Given the description of an element on the screen output the (x, y) to click on. 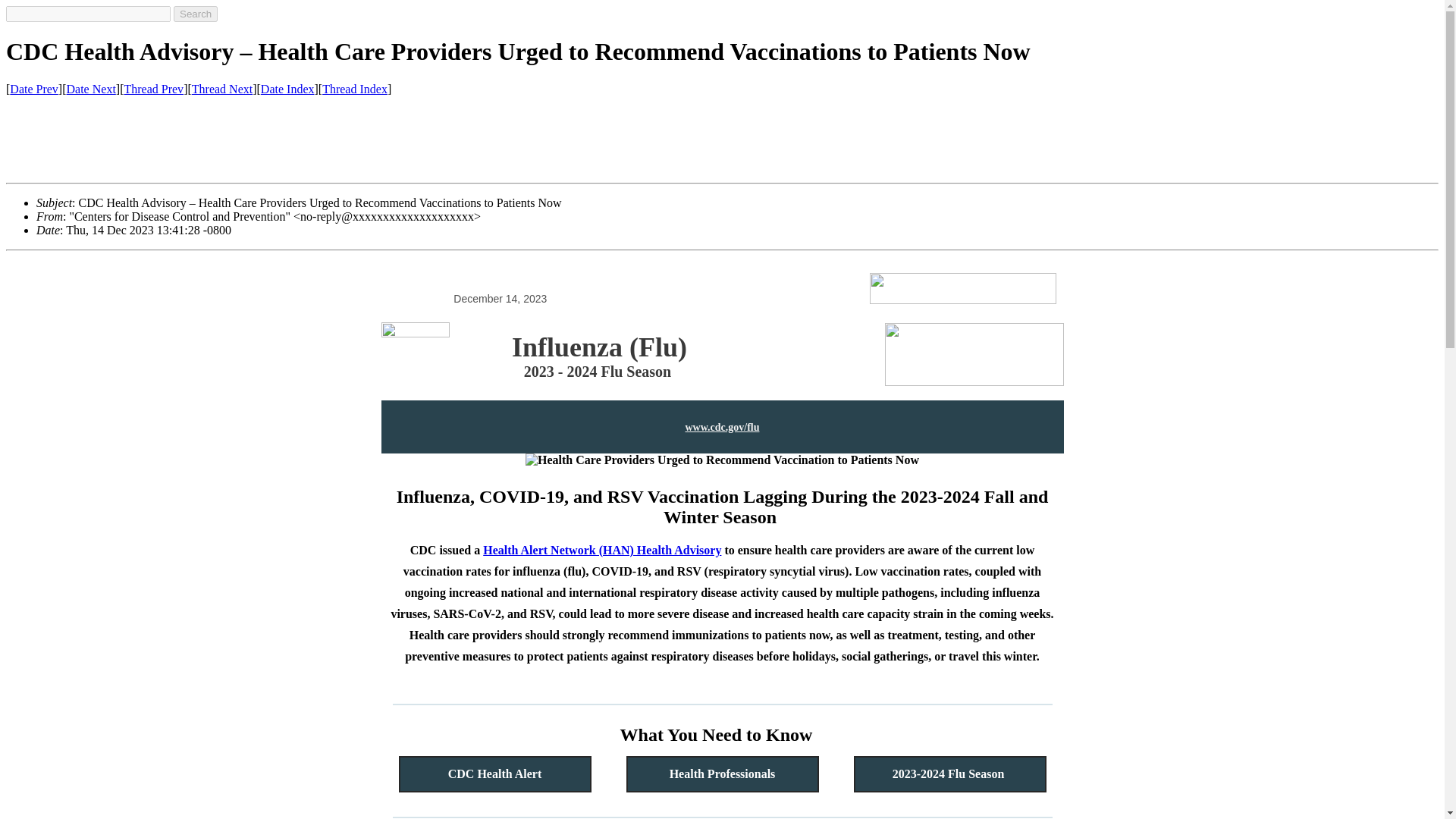
Thread Prev (153, 88)
Search (194, 13)
Thread Index (354, 88)
Search (194, 13)
2023-2024 Flu Season  (949, 773)
Thread Next (221, 88)
Date Next (91, 88)
CDC Health Alert (494, 773)
Date Prev (34, 88)
Date Index (287, 88)
Health Professionals (722, 773)
